Given the description of an element on the screen output the (x, y) to click on. 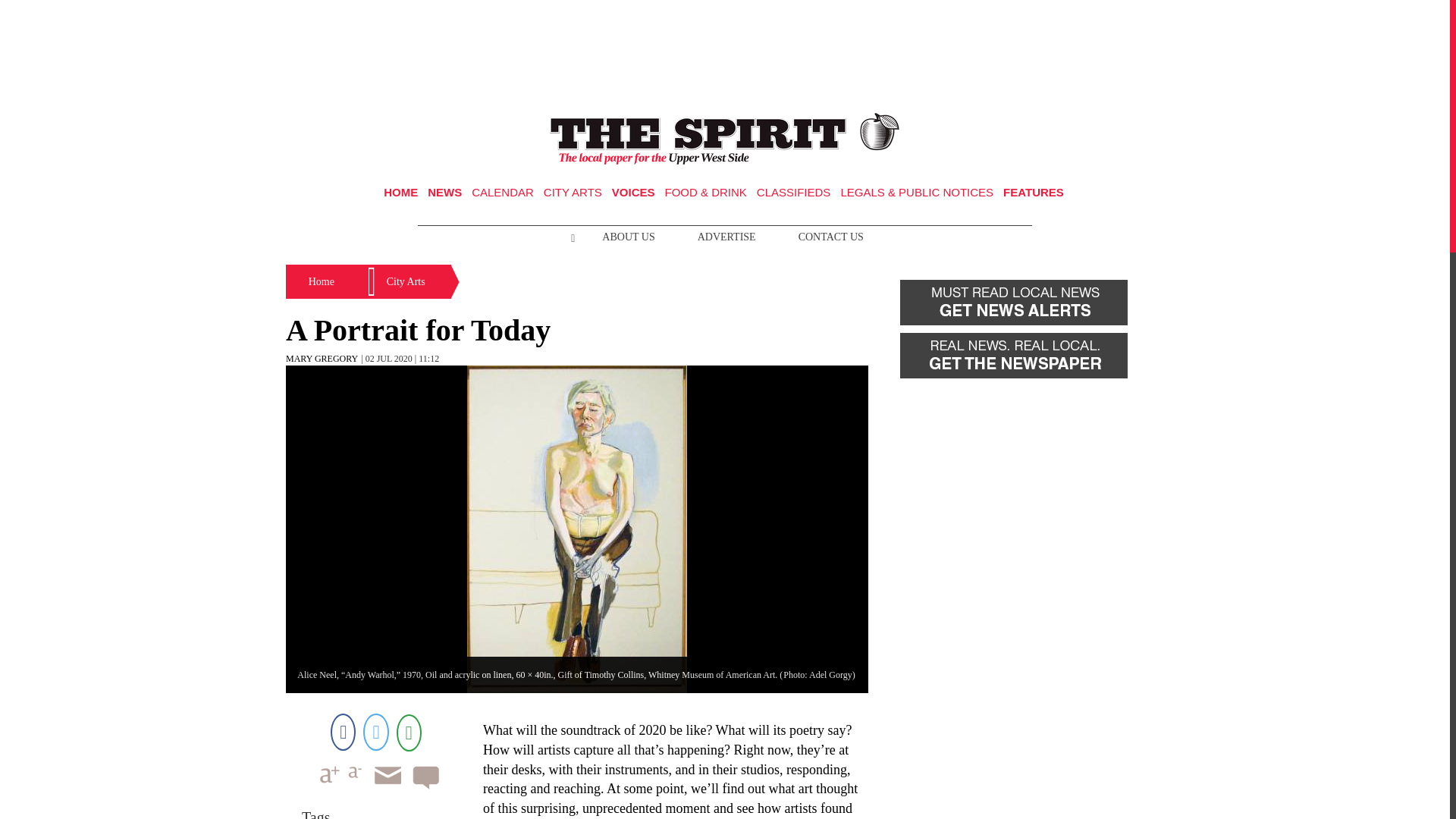
CALENDAR (502, 192)
CITY ARTS (572, 192)
VOICES (633, 192)
NEWS (444, 192)
HOME (400, 192)
FEATURES (1033, 192)
3rd party ad content (724, 49)
ABOUT US (627, 236)
CONTACT US (831, 236)
ADVERTISE (726, 236)
CLASSIFIEDS (794, 192)
